Given the description of an element on the screen output the (x, y) to click on. 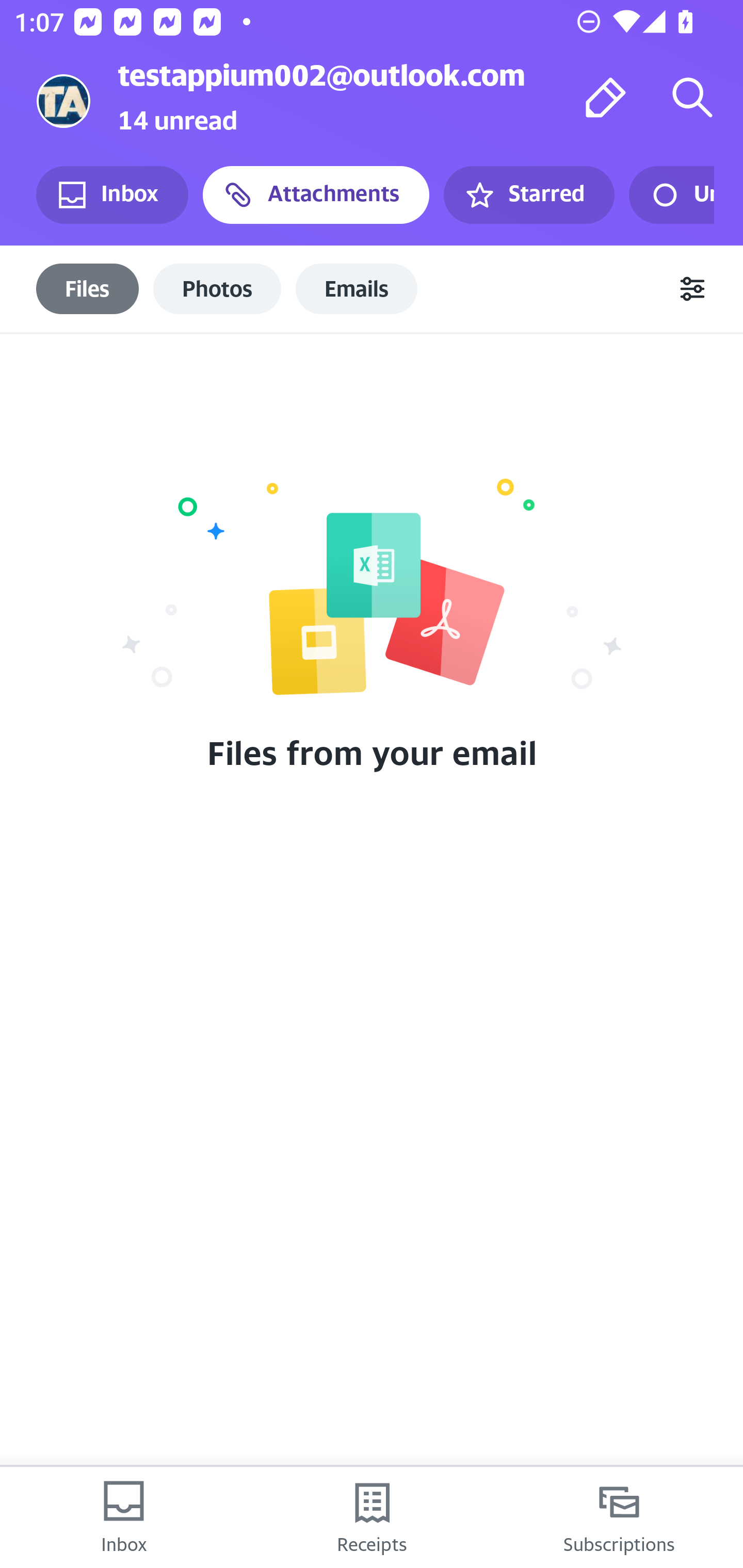
Compose (605, 97)
Search mail (692, 97)
Inbox (111, 195)
Starred (528, 195)
Show or hide more attachment filters (692, 289)
Files (87, 288)
Photos (216, 288)
Emails (356, 288)
Inbox (123, 1517)
Receipts (371, 1517)
Subscriptions (619, 1517)
